Given the description of an element on the screen output the (x, y) to click on. 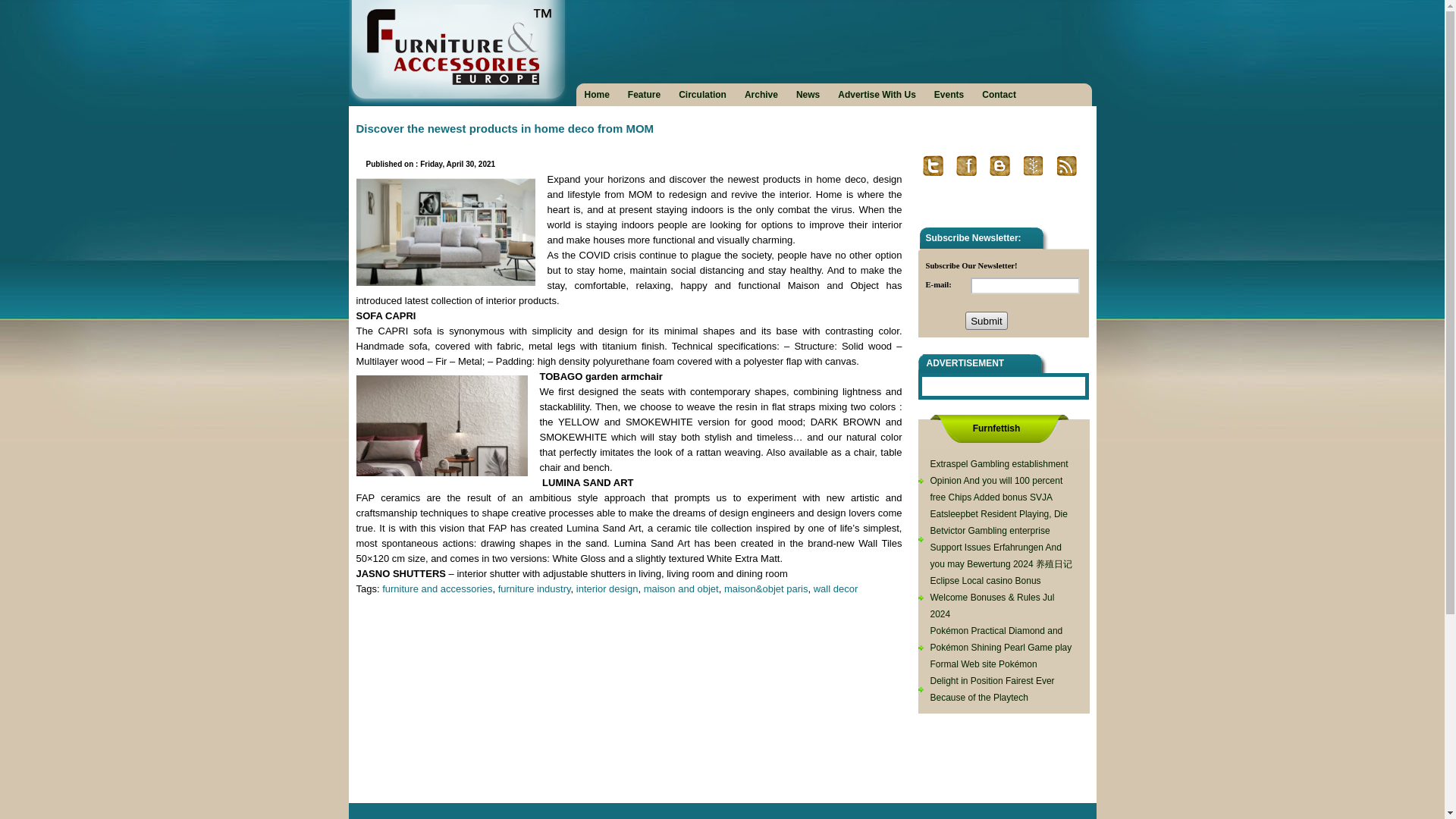
News (807, 93)
furniture industry (533, 588)
Feature (644, 93)
Circulation (702, 93)
Archive (761, 93)
Home (596, 93)
maison and objet (681, 588)
Submit (986, 321)
Advertise With Us (876, 93)
Submit (986, 321)
